Given the description of an element on the screen output the (x, y) to click on. 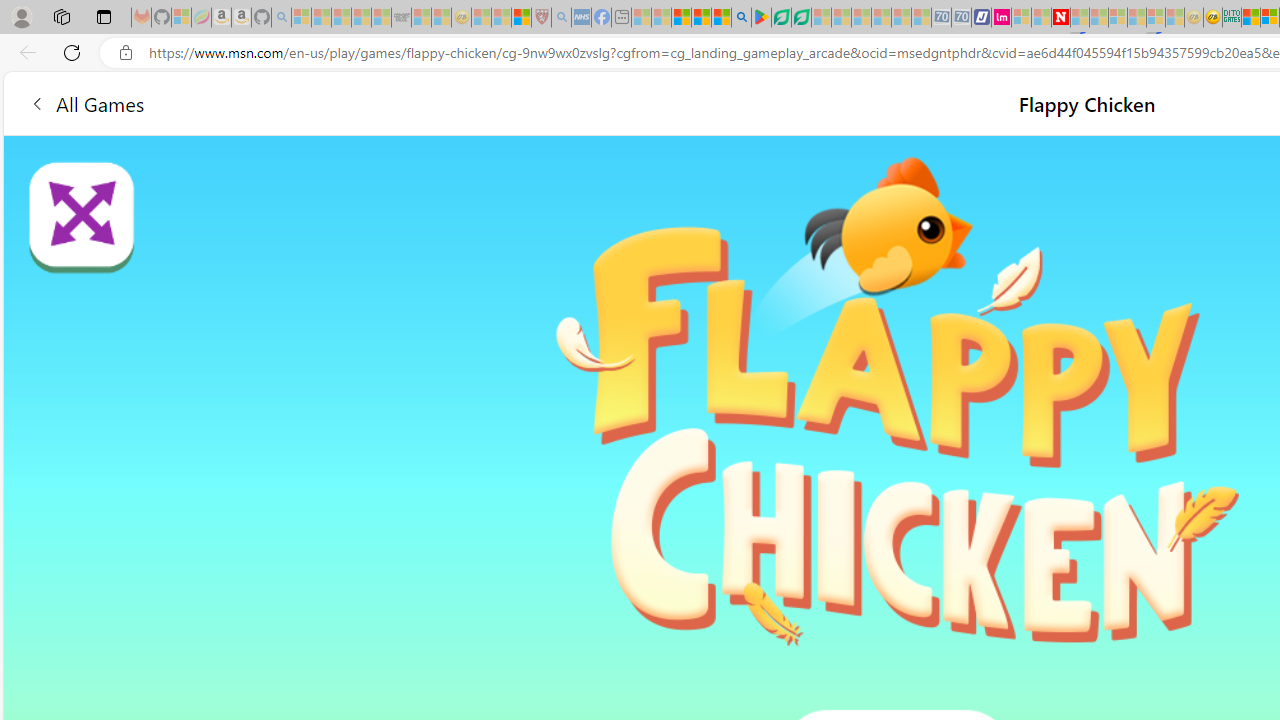
Pets - MSN (701, 17)
Jobs - lastminute.com Investor Portal (1001, 17)
Microsoft Word - consumer-privacy address update 2.2021 (801, 17)
Terms of Use Agreement (781, 17)
Latest Politics News & Archive | Newsweek.com (1061, 17)
All Games (86, 102)
